Given the description of an element on the screen output the (x, y) to click on. 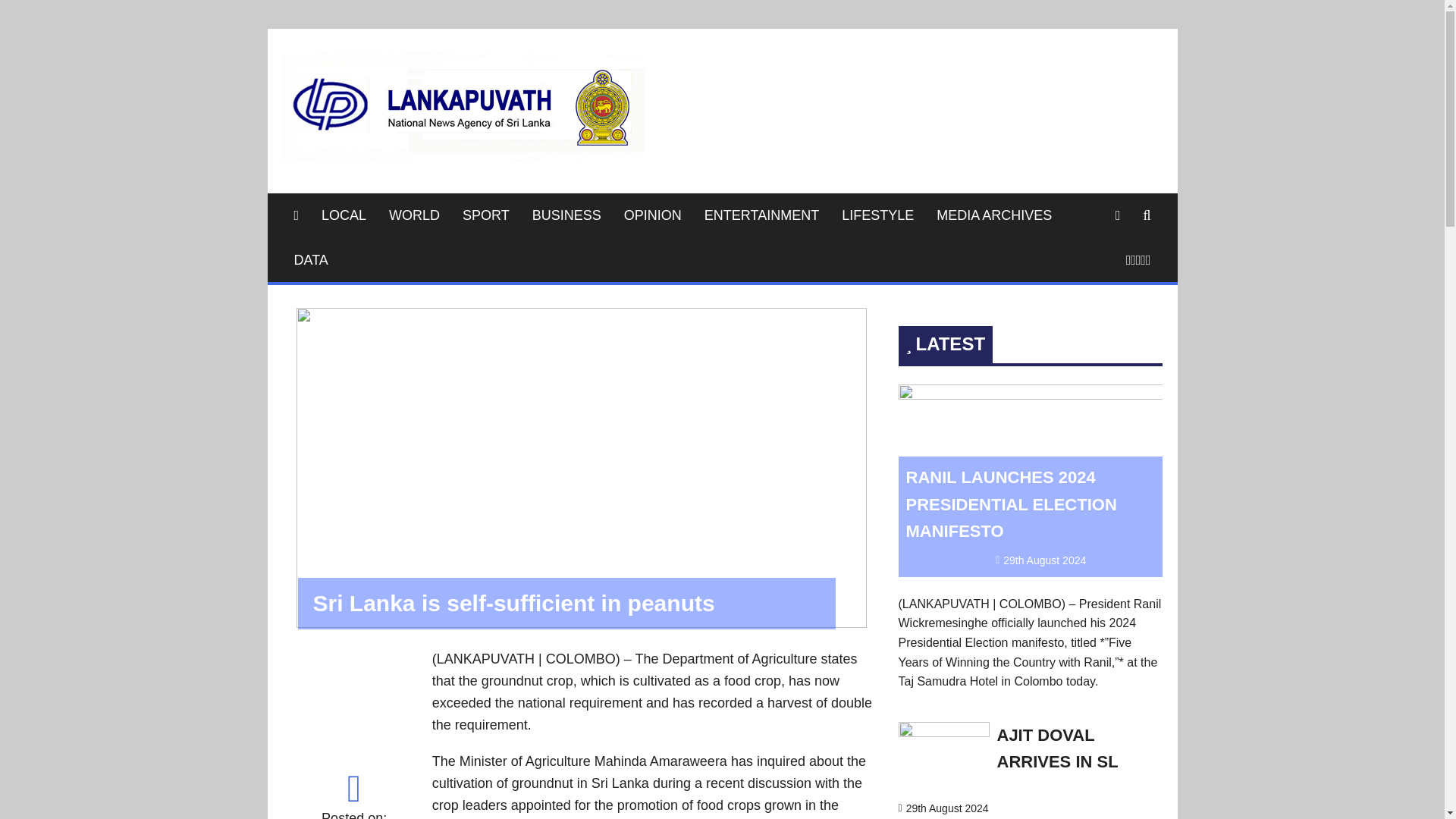
WORLD (414, 215)
BUSINESS (566, 215)
OPINION (652, 215)
Ajit Doval arrives in SL (1056, 748)
Ranil launches 2024 presidential election manifesto (1029, 394)
MEDIA ARCHIVES (993, 215)
DATA (310, 260)
Ranil launches 2024 presidential election manifesto (1010, 503)
LOCAL (343, 215)
SPORT (486, 215)
